Given the description of an element on the screen output the (x, y) to click on. 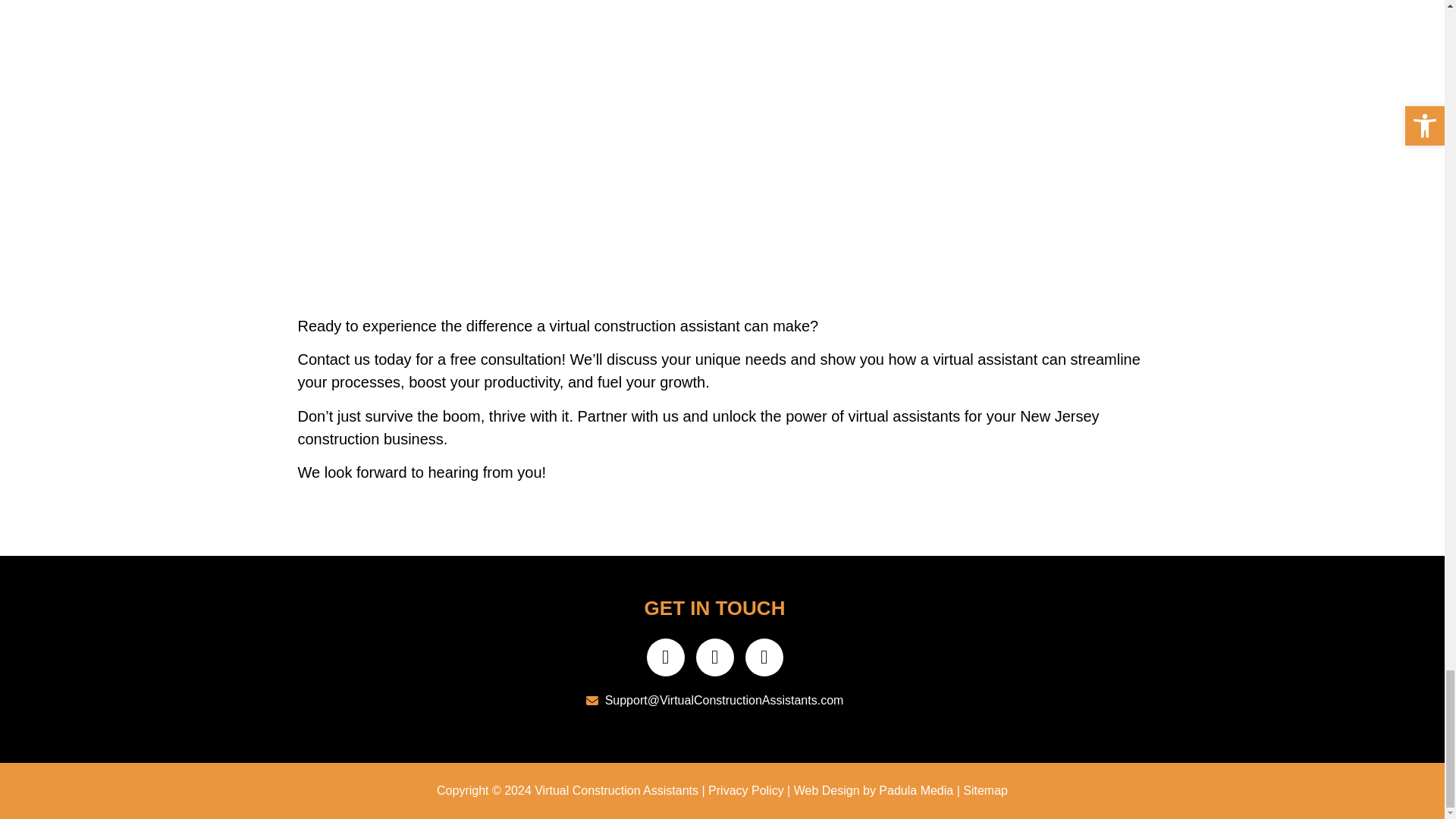
Padula Media (914, 789)
Privacy Policy (744, 789)
Sitemap (984, 789)
